Given the description of an element on the screen output the (x, y) to click on. 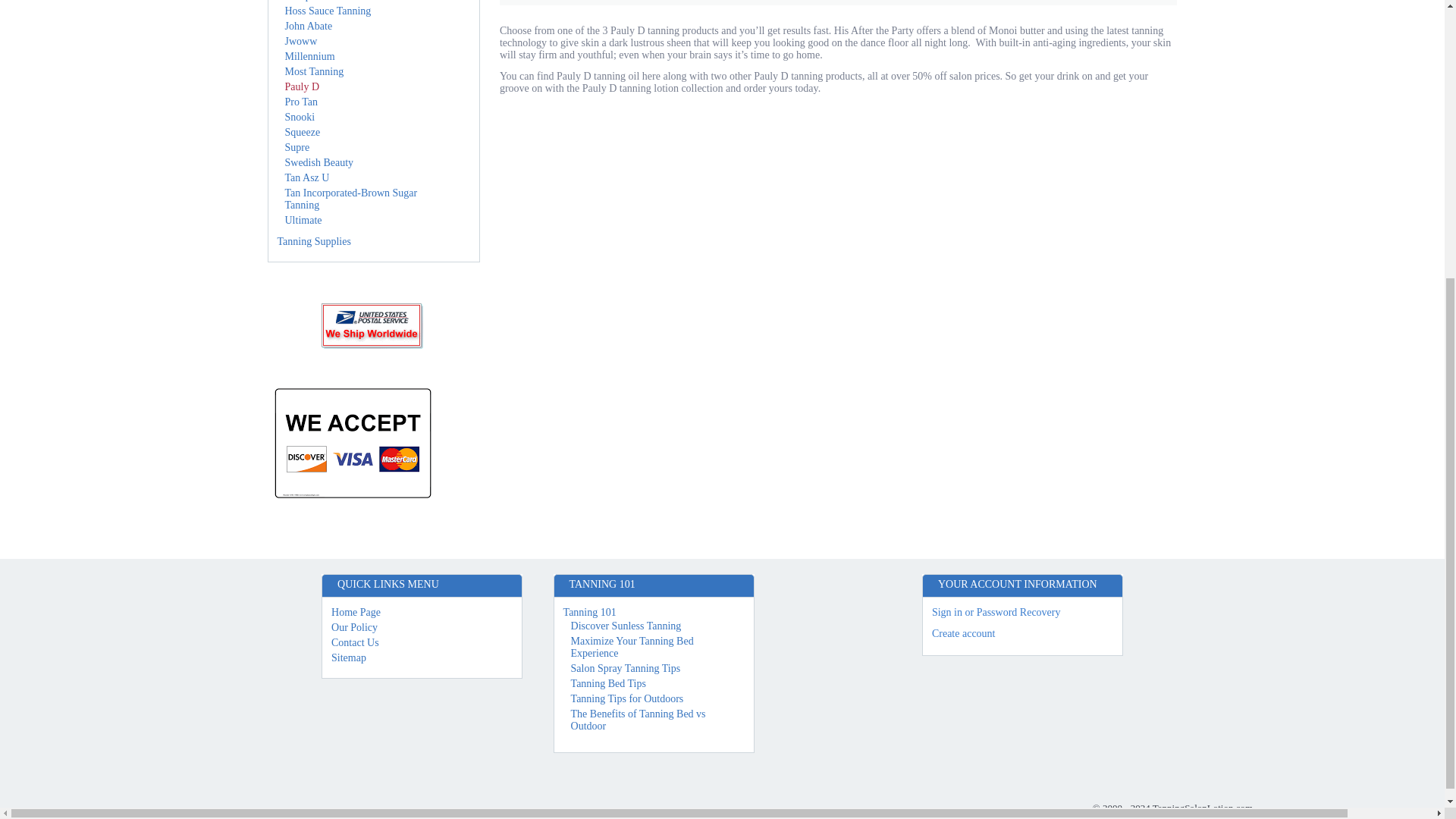
Hoss Sauce Tanning (328, 10)
Millennium (309, 56)
John Abate (309, 25)
Most Tanning (314, 71)
Priority Shipping (373, 326)
Jwoww (301, 41)
Hempz Moisturizer (326, 0)
